Given the description of an element on the screen output the (x, y) to click on. 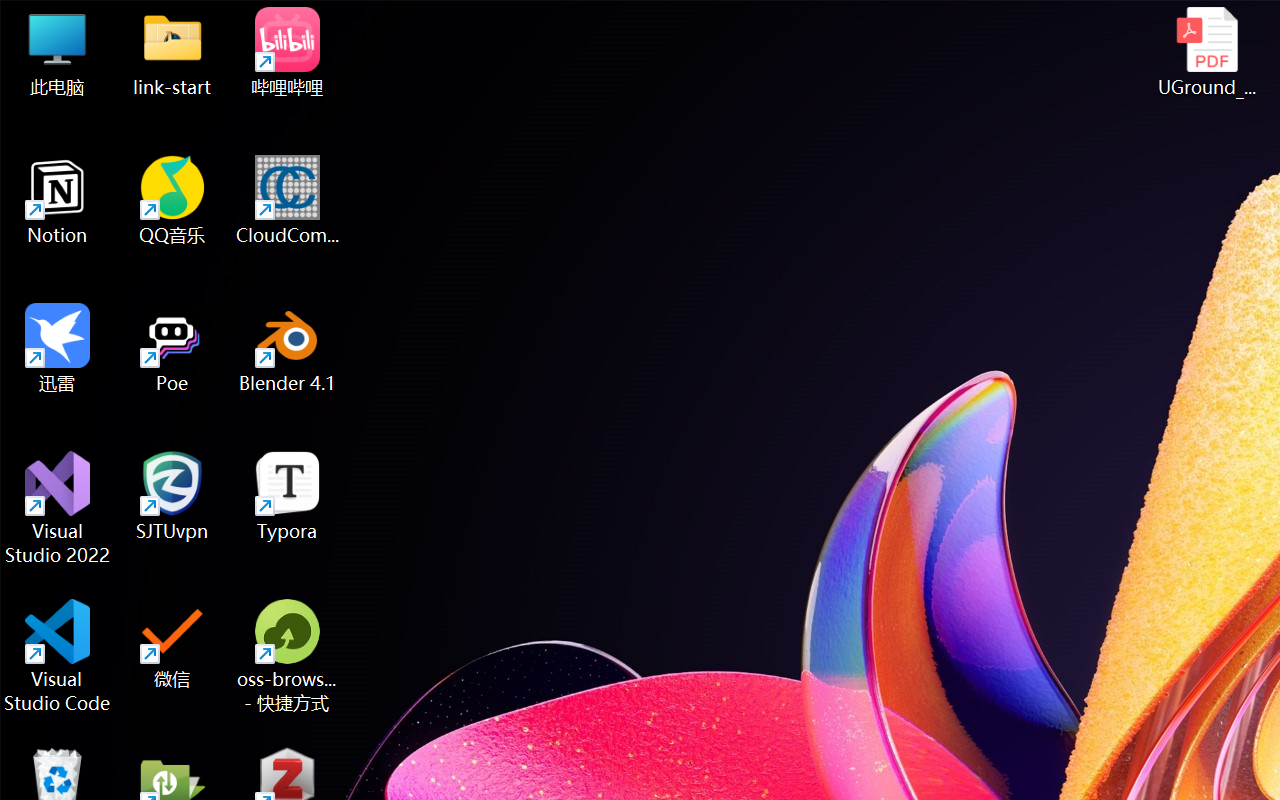
Typora (287, 496)
Blender 4.1 (287, 348)
SJTUvpn (172, 496)
CloudCompare (287, 200)
Visual Studio 2022 (57, 508)
Visual Studio Code (57, 656)
UGround_paper.pdf (1206, 52)
